Given the description of an element on the screen output the (x, y) to click on. 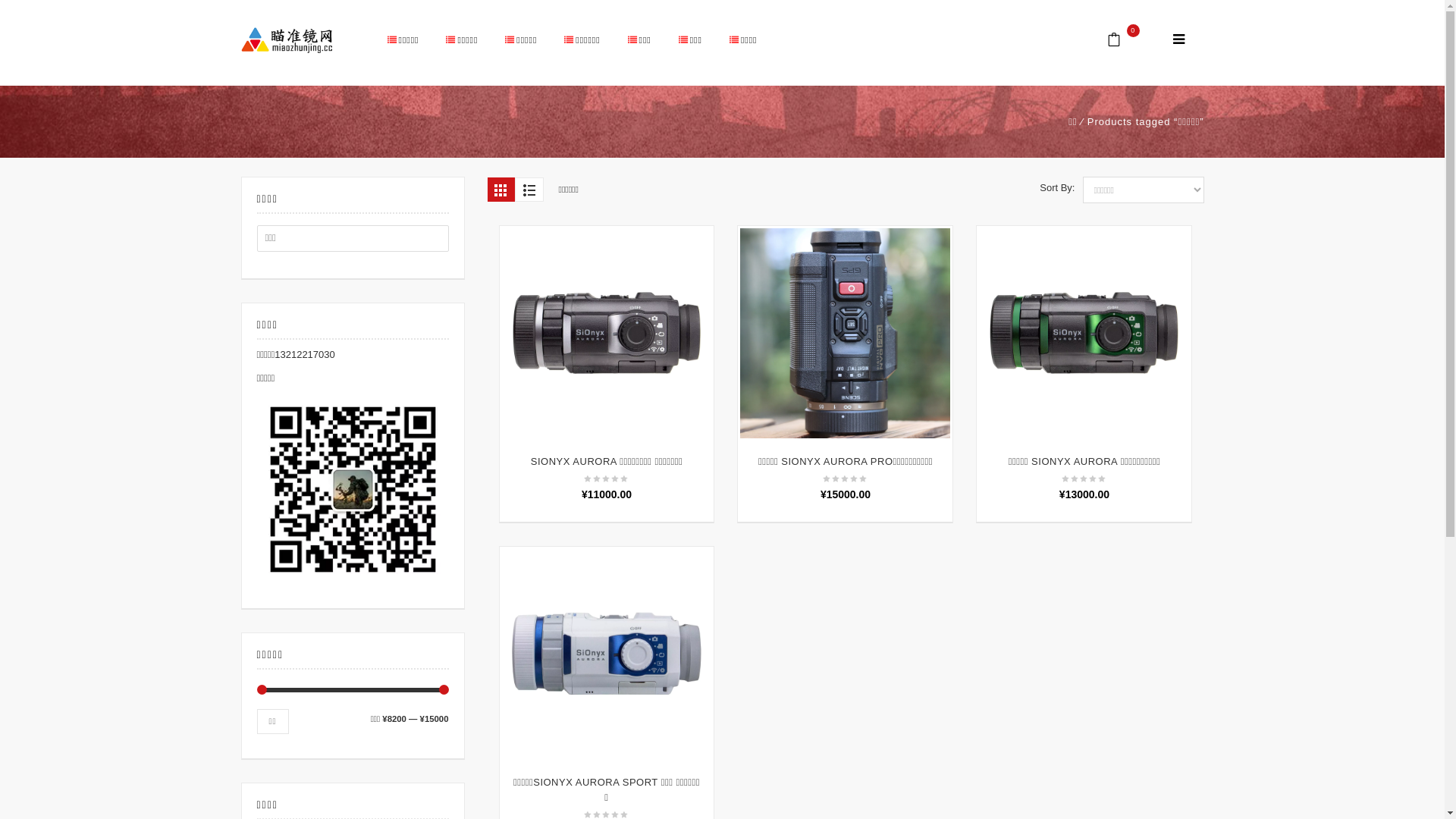
clicker: Element type: hover (1178, 40)
0 Element type: text (1123, 40)
List Element type: hover (528, 189)
